Given the description of an element on the screen output the (x, y) to click on. 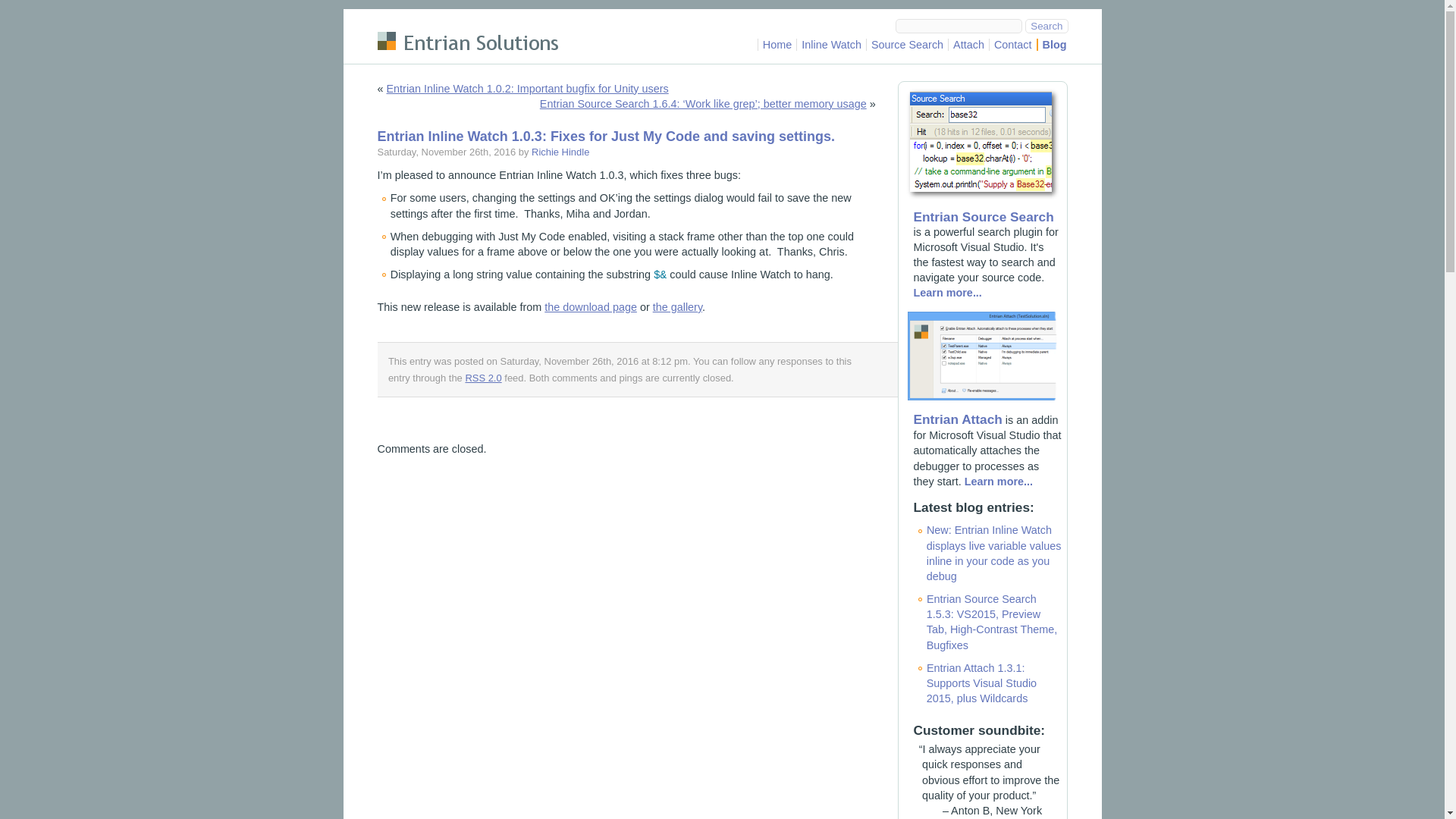
Inline Watch (831, 44)
Search (1046, 25)
Search (1046, 25)
Entrian Source Search (982, 216)
Learn more... (946, 292)
Attach (968, 44)
Blog (1054, 44)
Learn more... (997, 481)
